Given the description of an element on the screen output the (x, y) to click on. 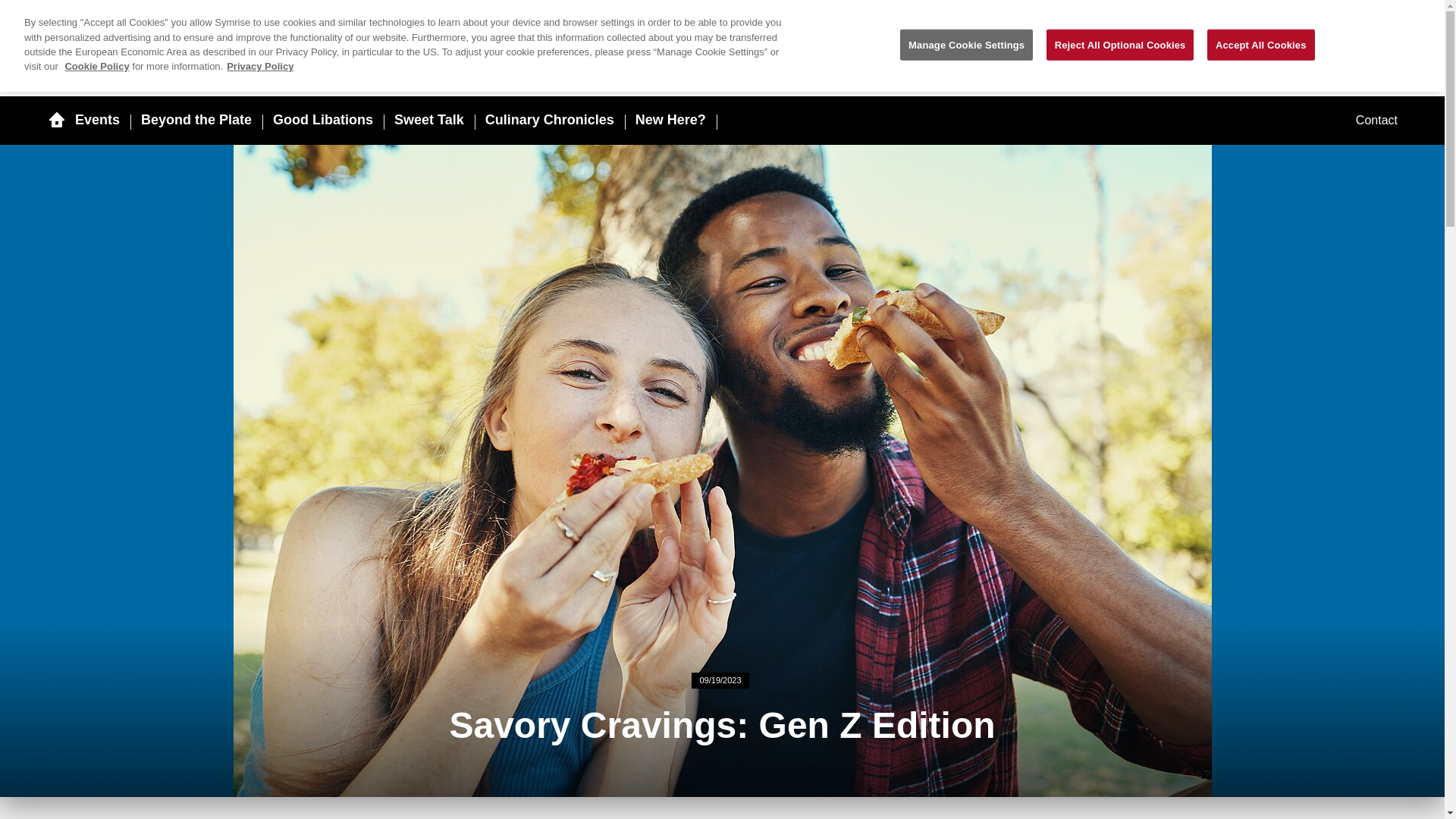
Culinary Chronicles (549, 120)
Culinary Chronicles (549, 120)
Contact (1376, 120)
Home (151, 39)
Good Libations (323, 120)
Sweet Talk (429, 120)
Sweet Talk (429, 120)
Beyond the Plate (196, 120)
Symrise (1296, 37)
Events (97, 120)
Beyond the Plate (196, 120)
New Here? (670, 120)
New Here? (670, 120)
Events (97, 120)
Home (56, 119)
